Given the description of an element on the screen output the (x, y) to click on. 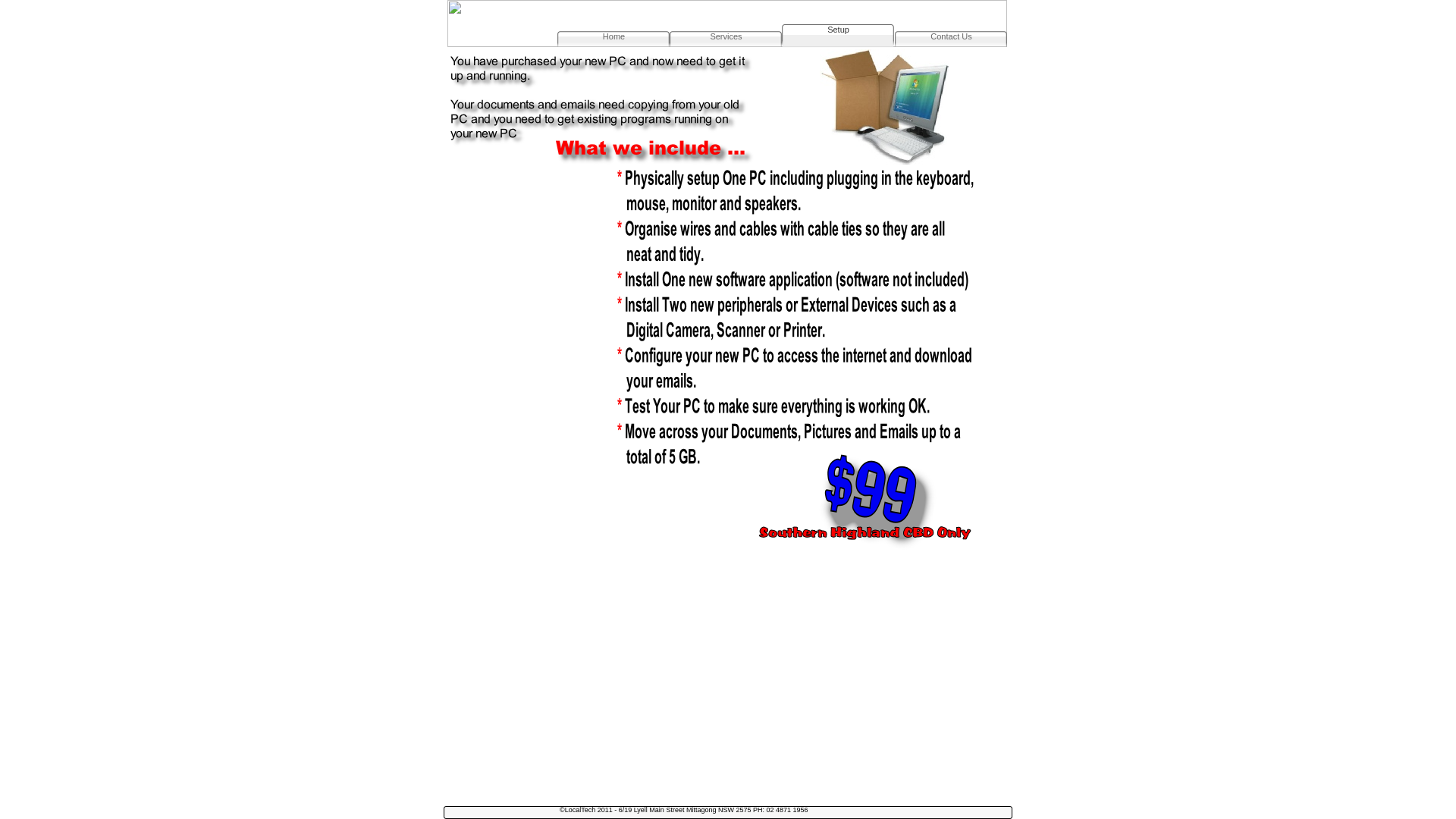
Home Element type: text (613, 36)
Contact Us Element type: text (950, 36)
Services Element type: text (725, 36)
Setup Element type: text (837, 36)
